Given the description of an element on the screen output the (x, y) to click on. 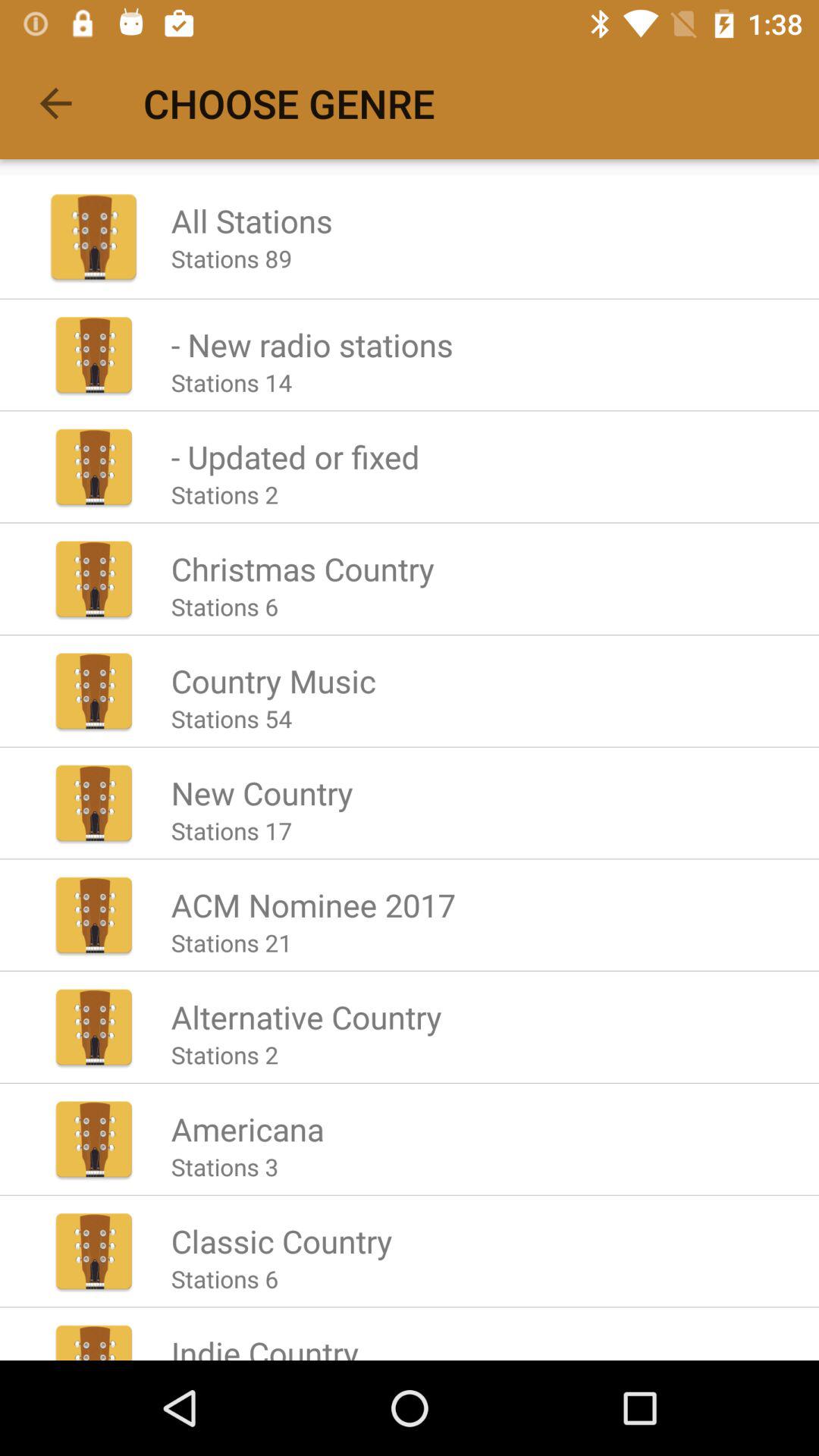
turn off item above the classic country icon (224, 1166)
